Given the description of an element on the screen output the (x, y) to click on. 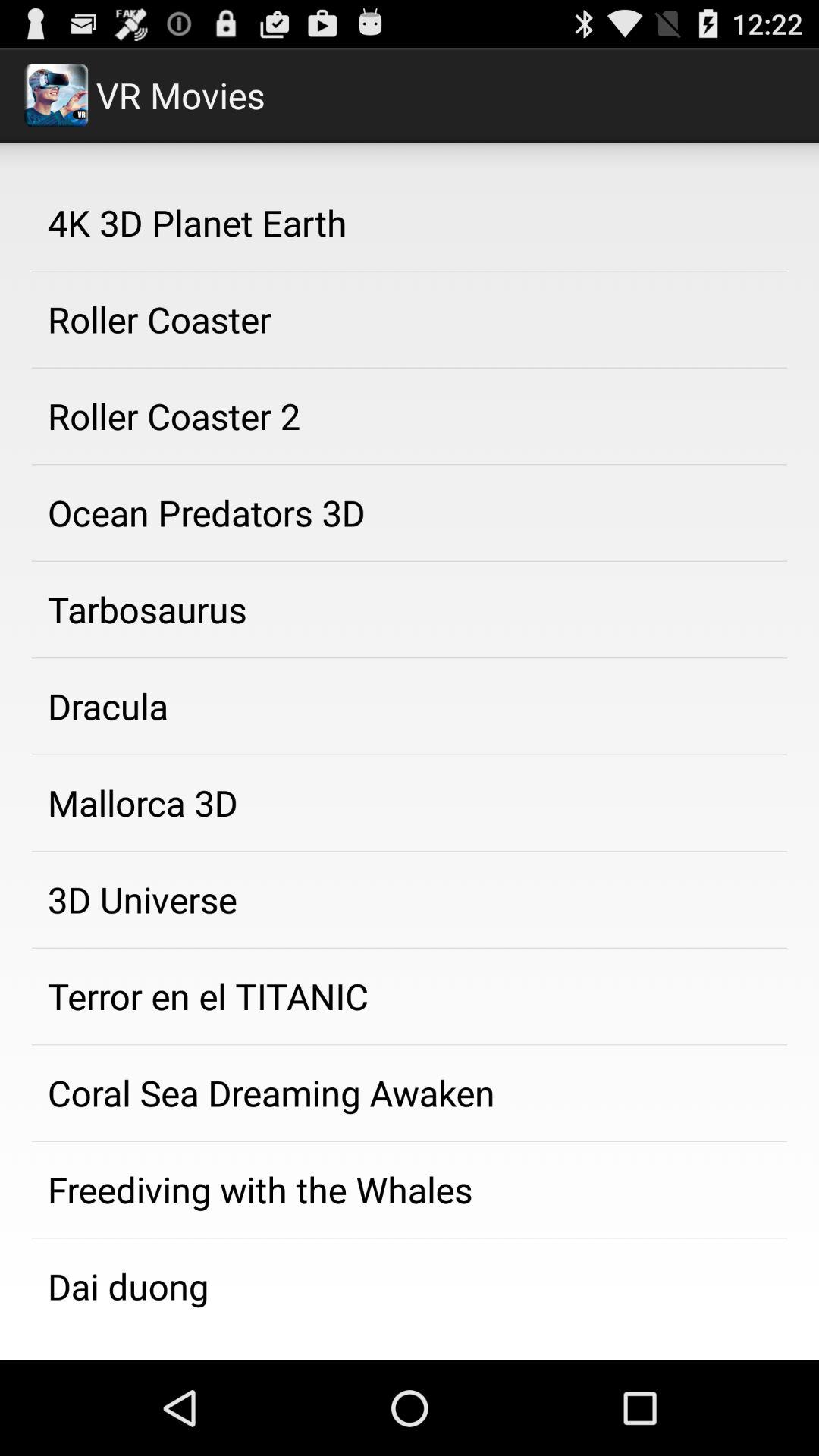
choose item above the coral sea dreaming app (409, 996)
